Given the description of an element on the screen output the (x, y) to click on. 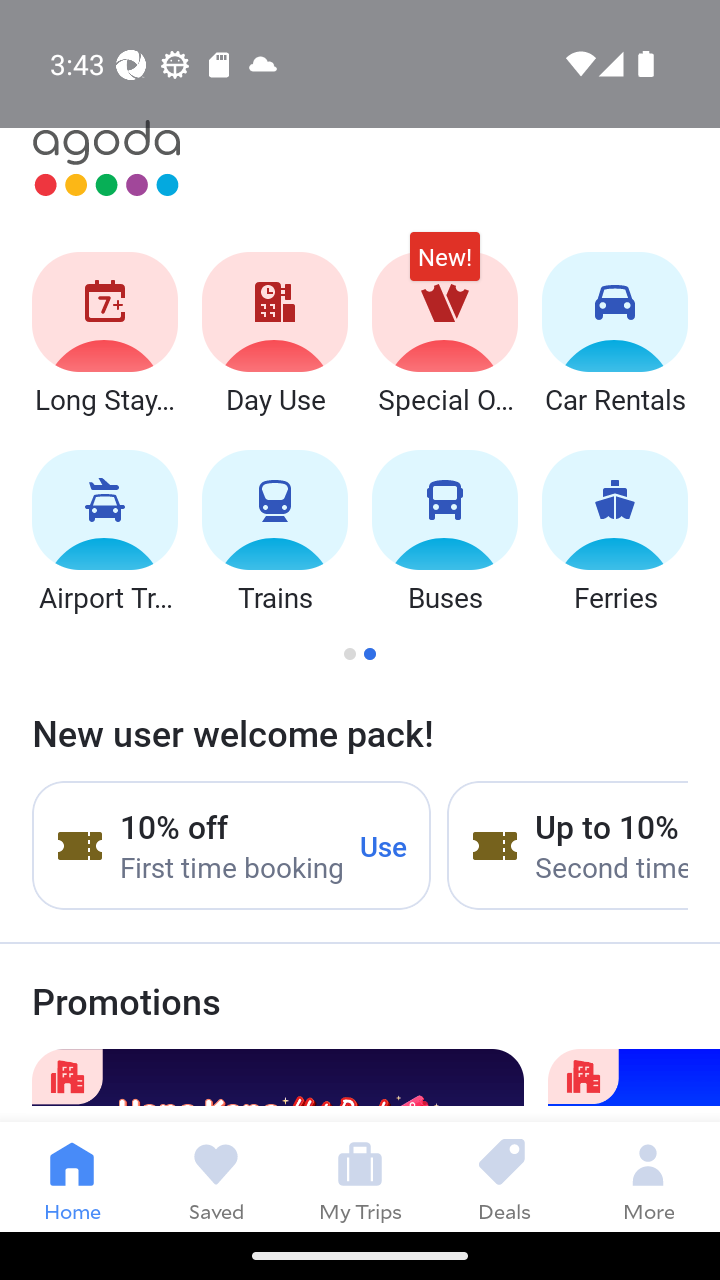
New! (444, 265)
Use (384, 845)
Home (72, 1176)
Saved (216, 1176)
My Trips (360, 1176)
Deals (504, 1176)
More (648, 1176)
